Given the description of an element on the screen output the (x, y) to click on. 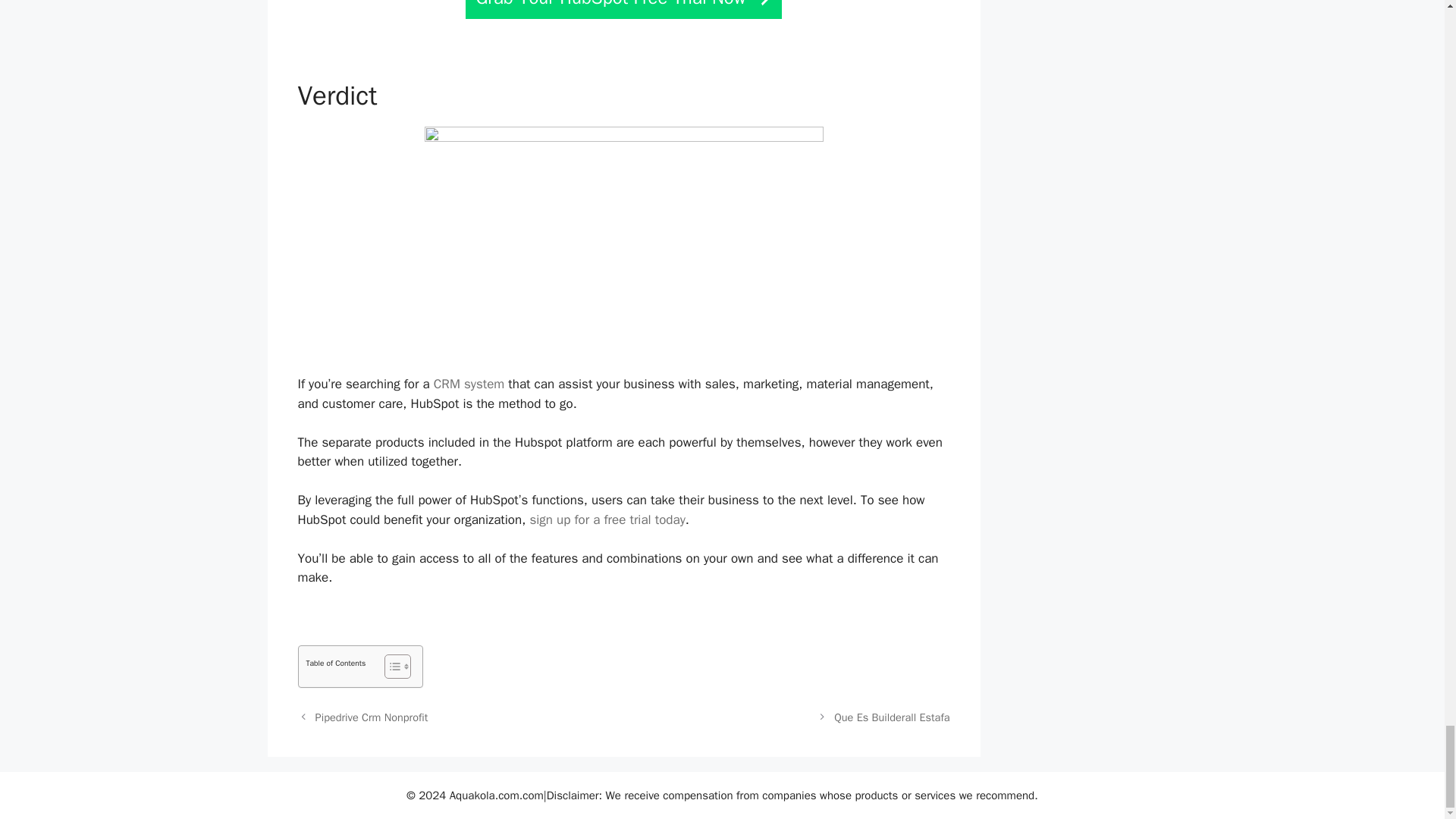
Grab Your HubSpot Free Trial Now (622, 9)
sign up for a free trial today (606, 519)
CRM system (468, 383)
